Given the description of an element on the screen output the (x, y) to click on. 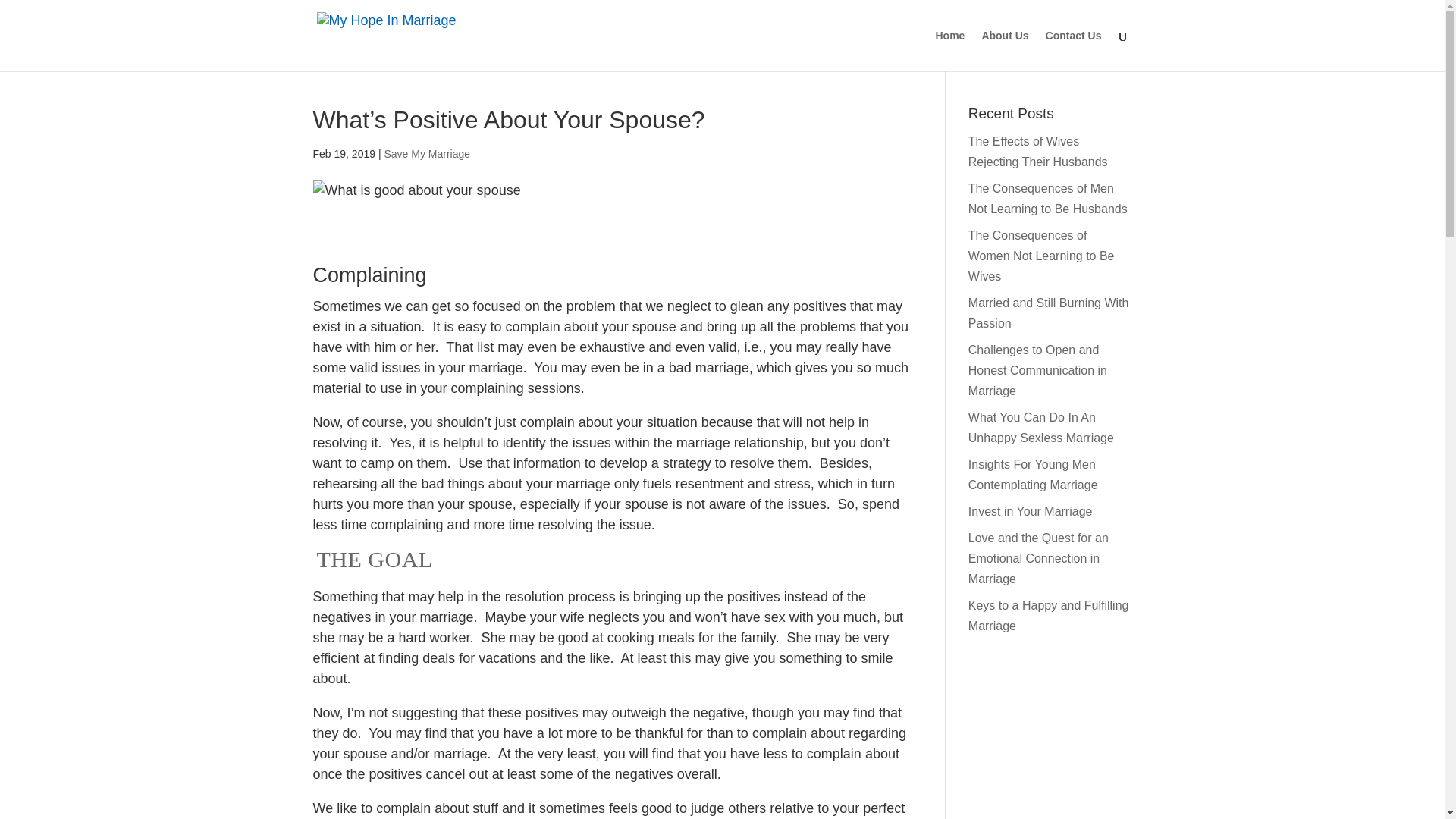
About Us (1004, 50)
Save My Marriage (427, 153)
Contact Us (1073, 50)
